Given the description of an element on the screen output the (x, y) to click on. 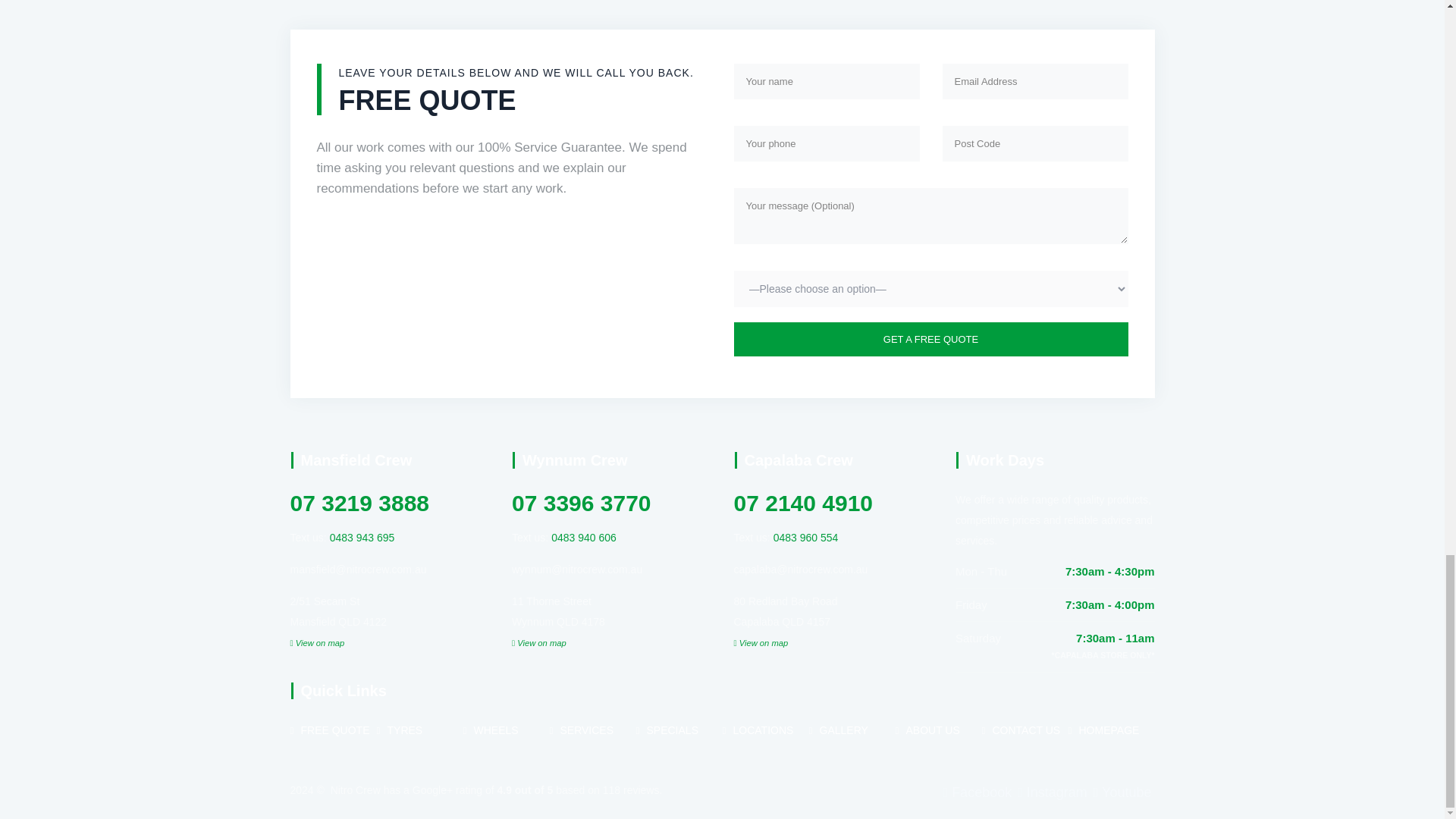
GET A FREE QUOTE (930, 339)
